Given the description of an element on the screen output the (x, y) to click on. 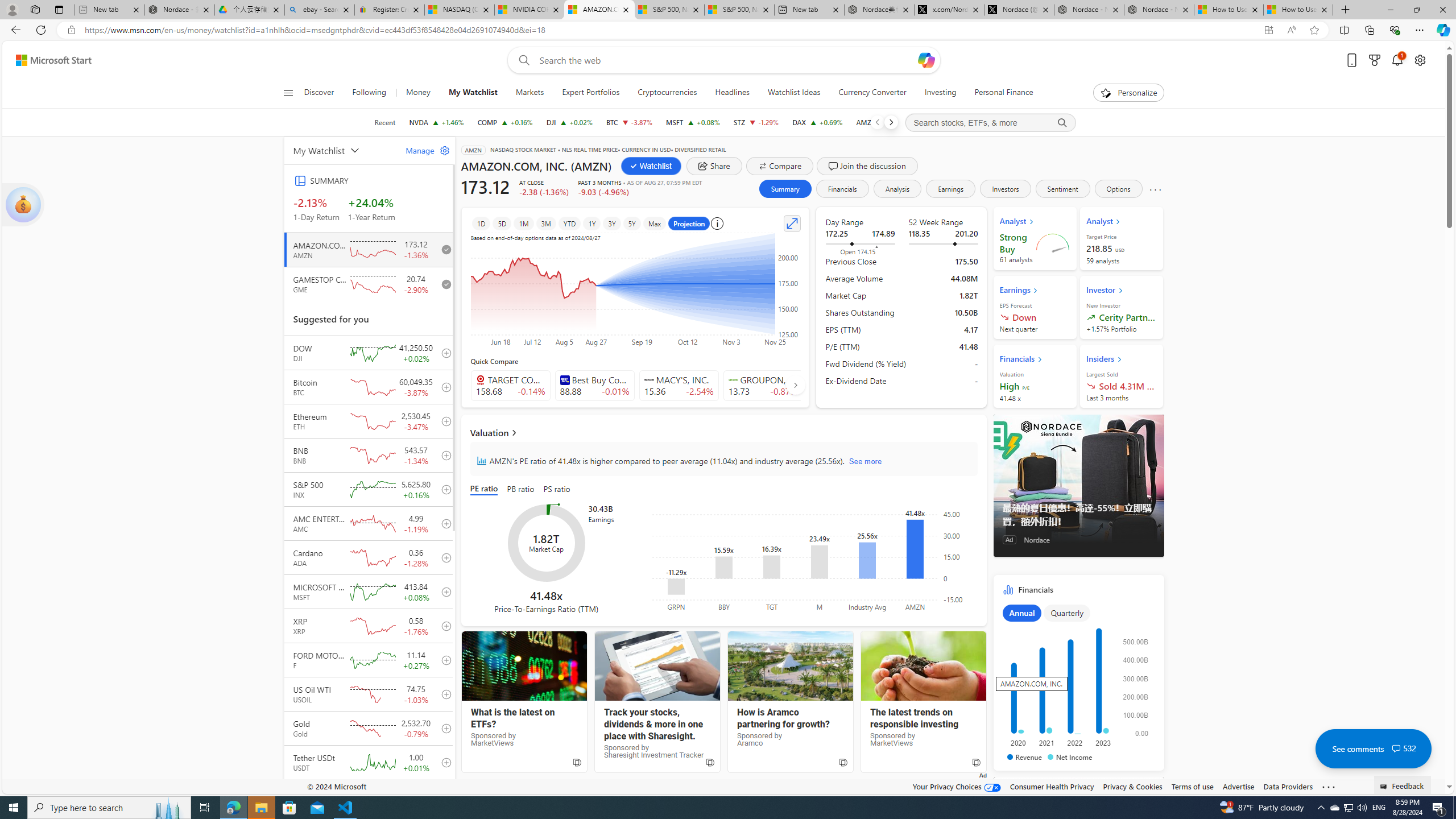
PS ratio (556, 489)
Recent (385, 121)
Following (370, 92)
Skip to content (49, 59)
PE ratio (486, 489)
My Watchlist (472, 92)
BTC Bitcoin decrease 60,049.35 -2,320.91 -3.87% (628, 122)
Markets (529, 92)
remove from your watchlist (442, 283)
